Given the description of an element on the screen output the (x, y) to click on. 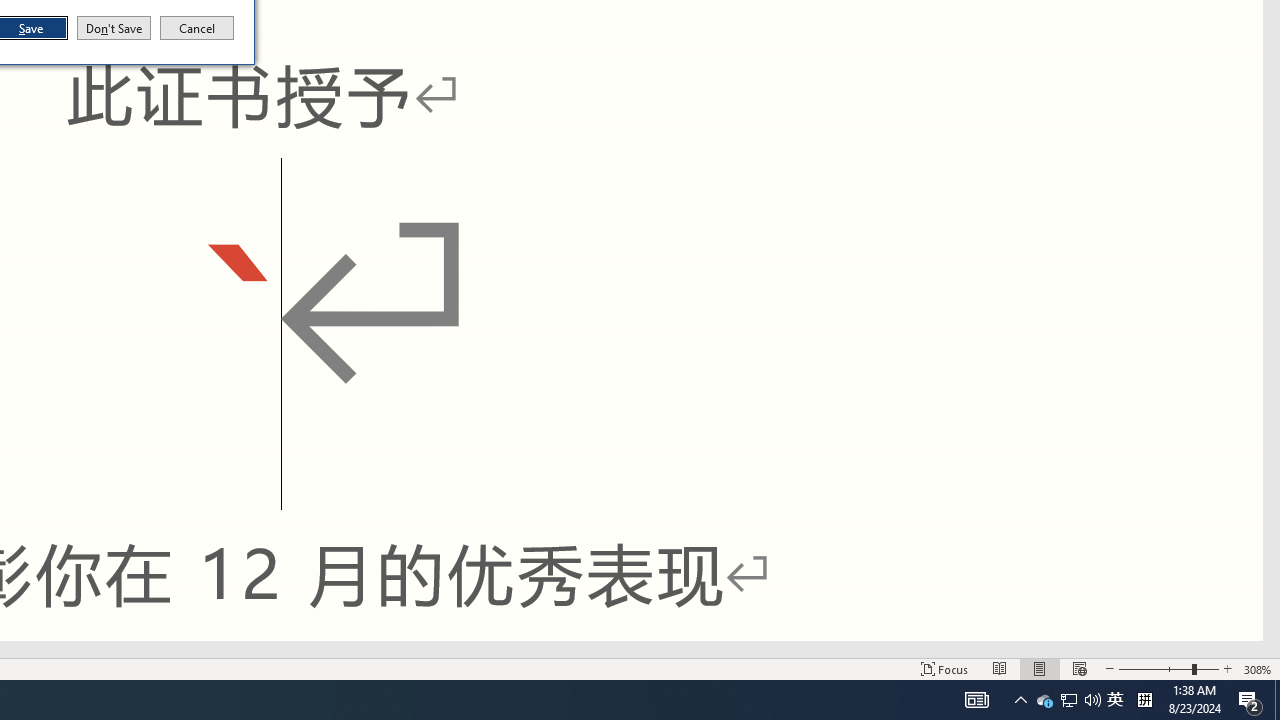
Zoom 308% (1258, 668)
Notification Chevron (1020, 699)
Tray Input Indicator - Chinese (Simplified, China) (1144, 699)
AutomationID: 4105 (976, 699)
Don't Save (113, 27)
Cancel (1044, 699)
Q2790: 100% (197, 27)
Show desktop (1092, 699)
